Given the description of an element on the screen output the (x, y) to click on. 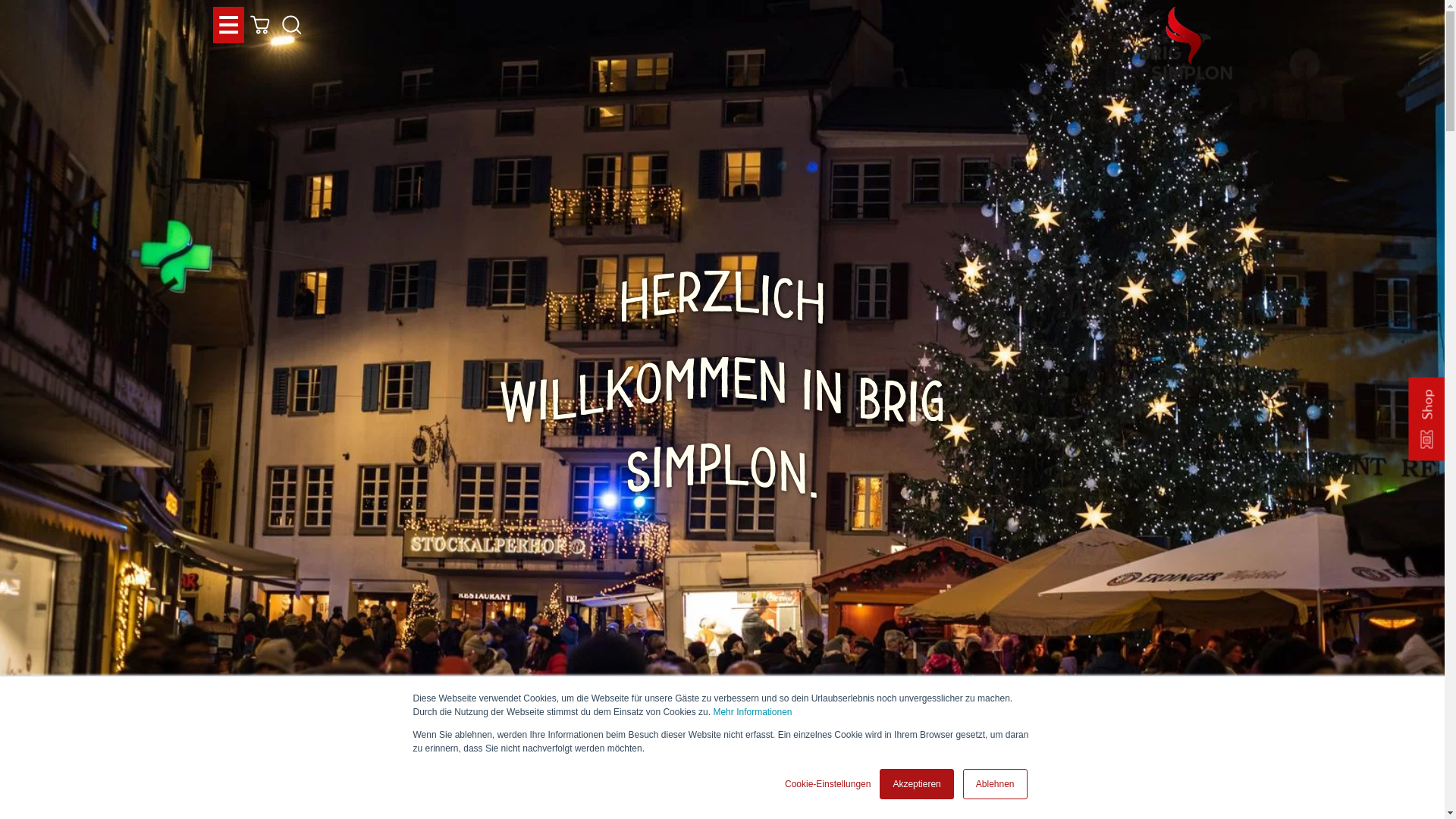
Cookie-Einstellungen Element type: text (827, 783)
Akzeptieren Element type: text (916, 783)
Ablehnen Element type: text (995, 783)
Suche Element type: hover (291, 24)
Mehr Informationen Element type: text (751, 711)
